Given the description of an element on the screen output the (x, y) to click on. 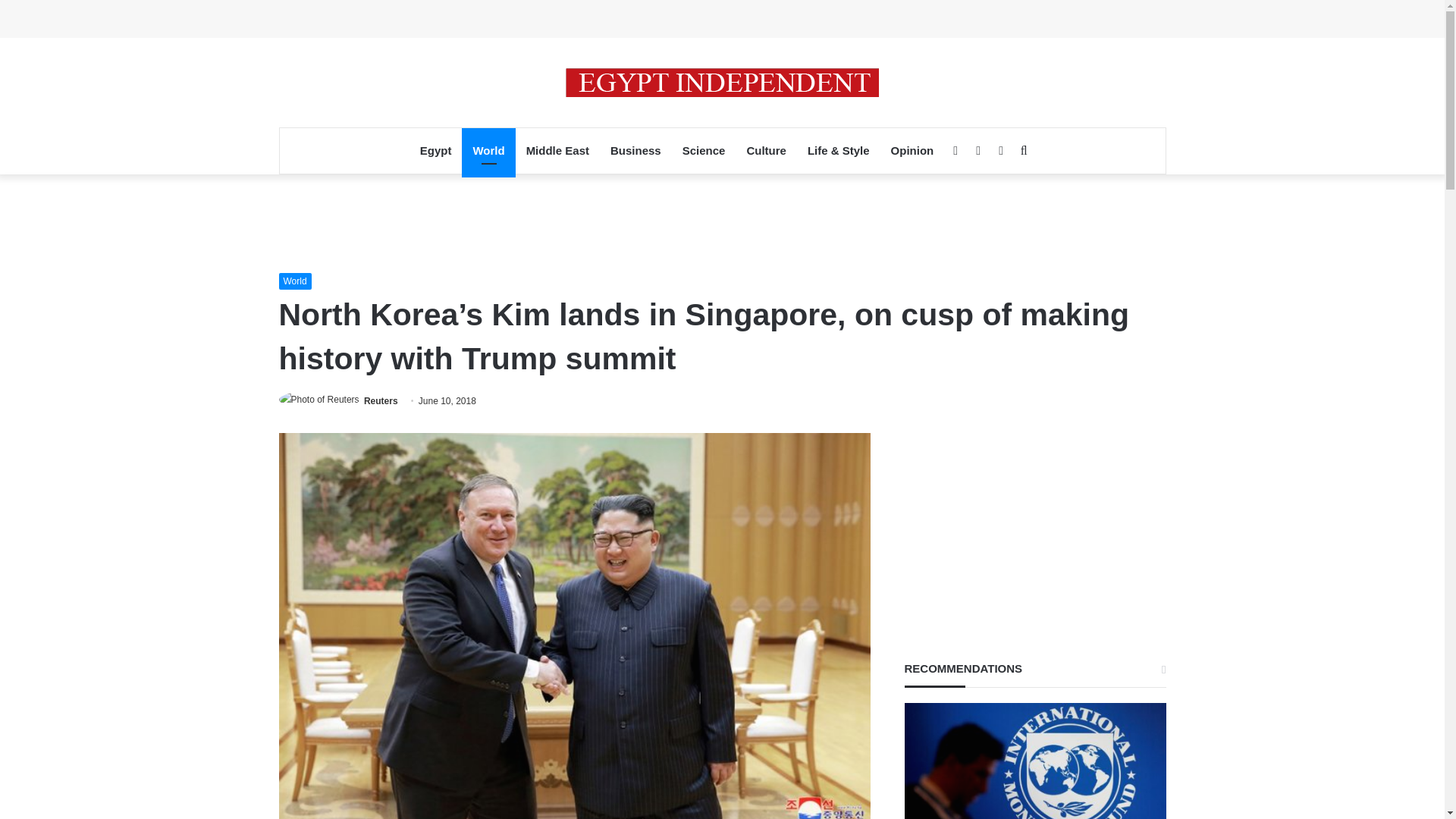
Egypt Independent (722, 82)
World (295, 280)
Science (703, 150)
Egypt (436, 150)
Middle East (557, 150)
Culture (765, 150)
Business (635, 150)
Reuters (380, 400)
Opinion (912, 150)
World (488, 150)
Reuters (380, 400)
